Given the description of an element on the screen output the (x, y) to click on. 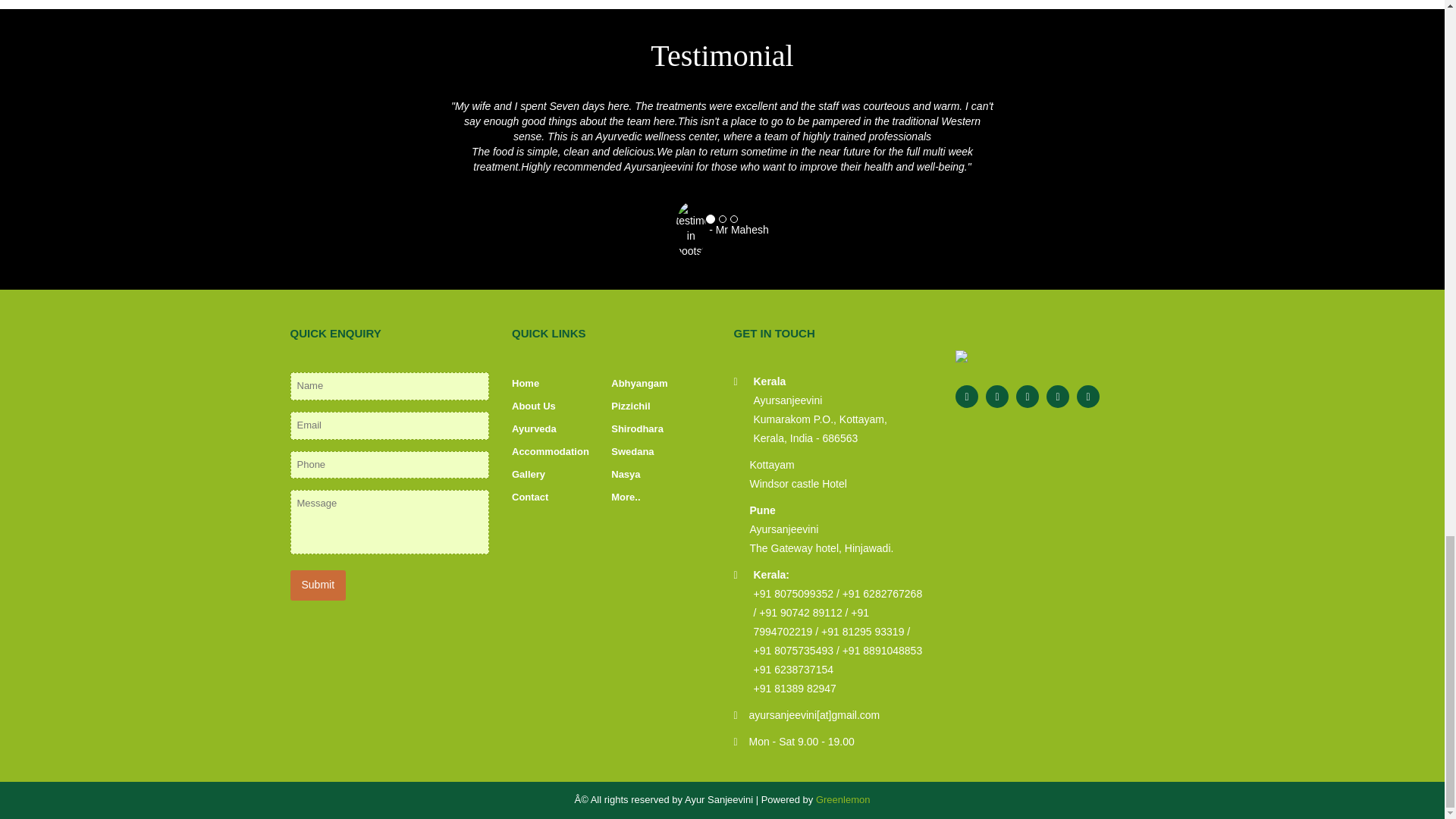
Submit (317, 585)
Submit (317, 585)
Ayurveda (534, 428)
About Us (534, 405)
Home (525, 383)
